Given the description of an element on the screen output the (x, y) to click on. 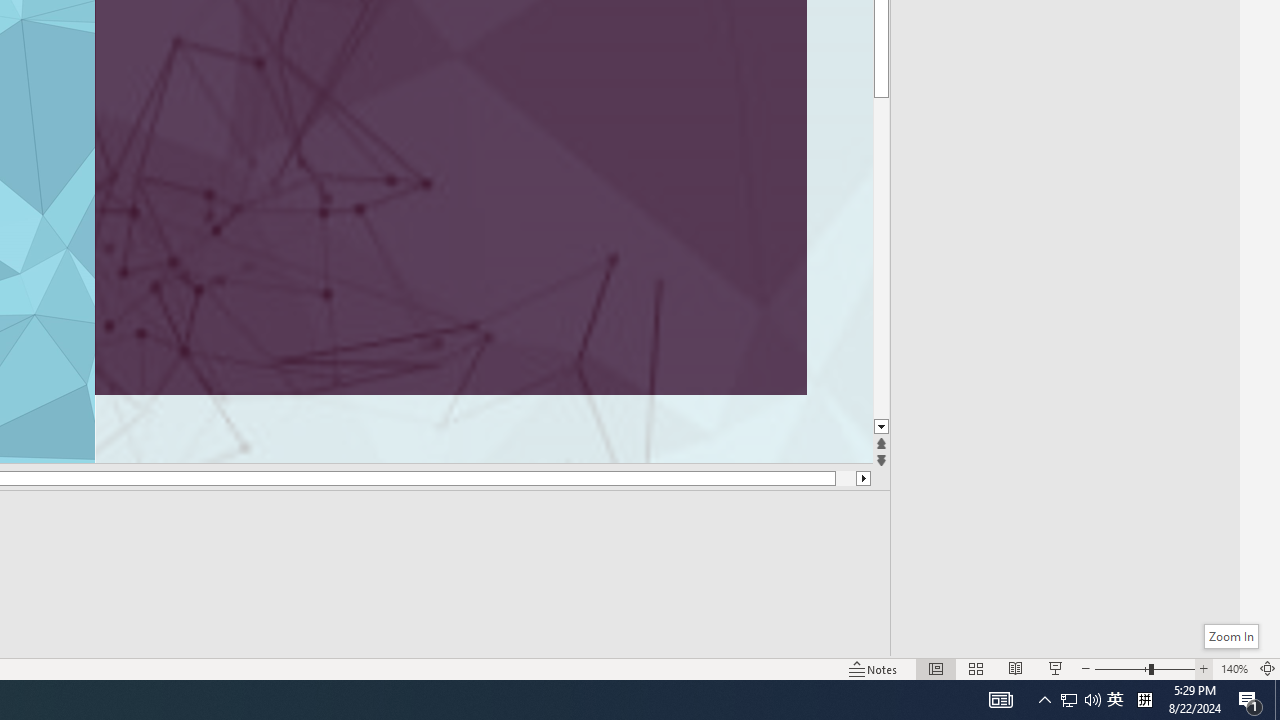
Zoom 140% (1234, 668)
